Given the description of an element on the screen output the (x, y) to click on. 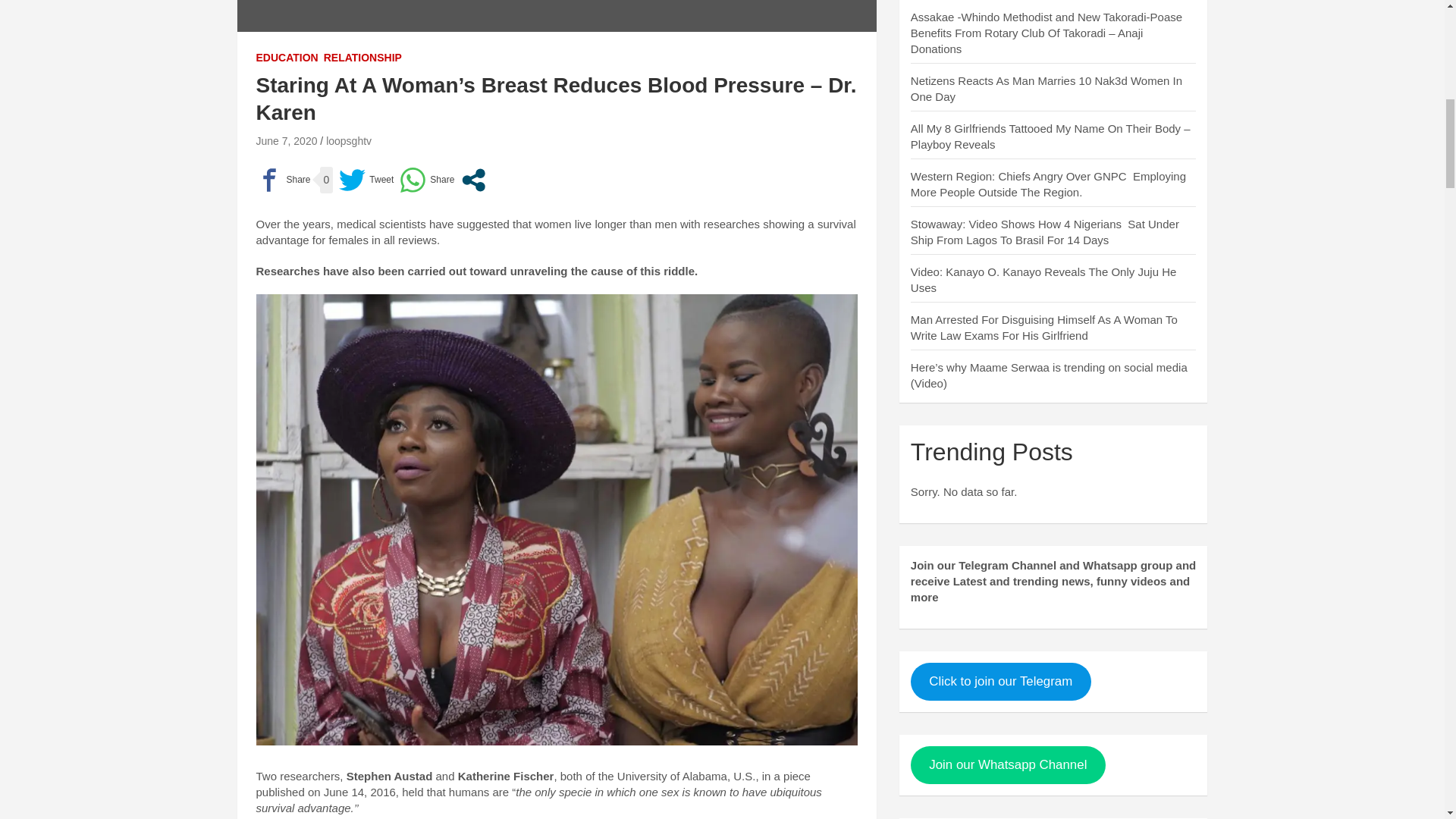
Open modal social networks (473, 180)
RELATIONSHIP (362, 58)
Share on WhatsApp (426, 180)
Share on Facebook (283, 180)
Tweet (366, 180)
loopsghtv (348, 141)
EDUCATION (287, 58)
June 7, 2020 (286, 141)
